Given the description of an element on the screen output the (x, y) to click on. 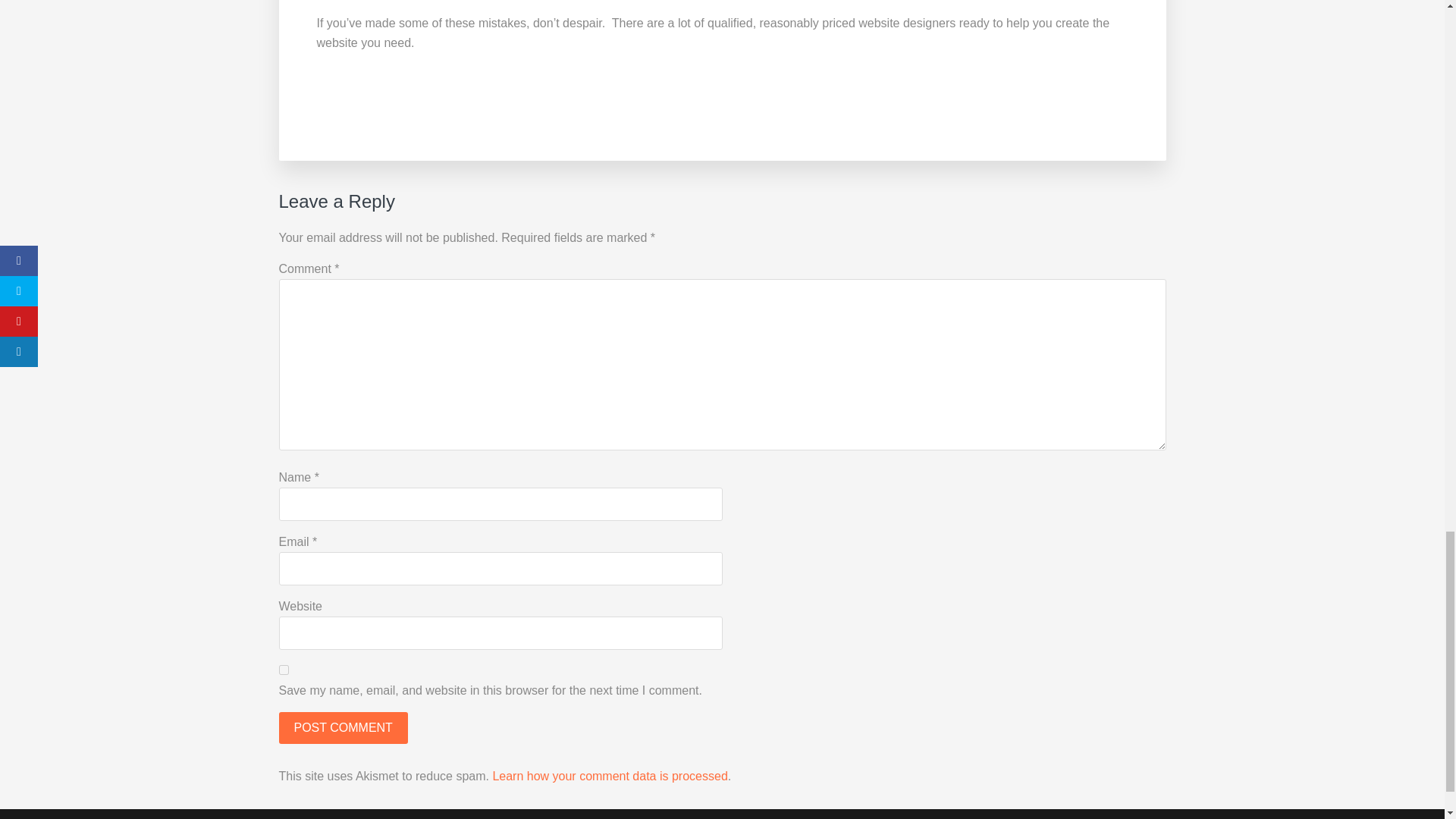
Learn how your comment data is processed (609, 775)
Post Comment (343, 727)
Post Comment (343, 727)
yes (283, 669)
